Given the description of an element on the screen output the (x, y) to click on. 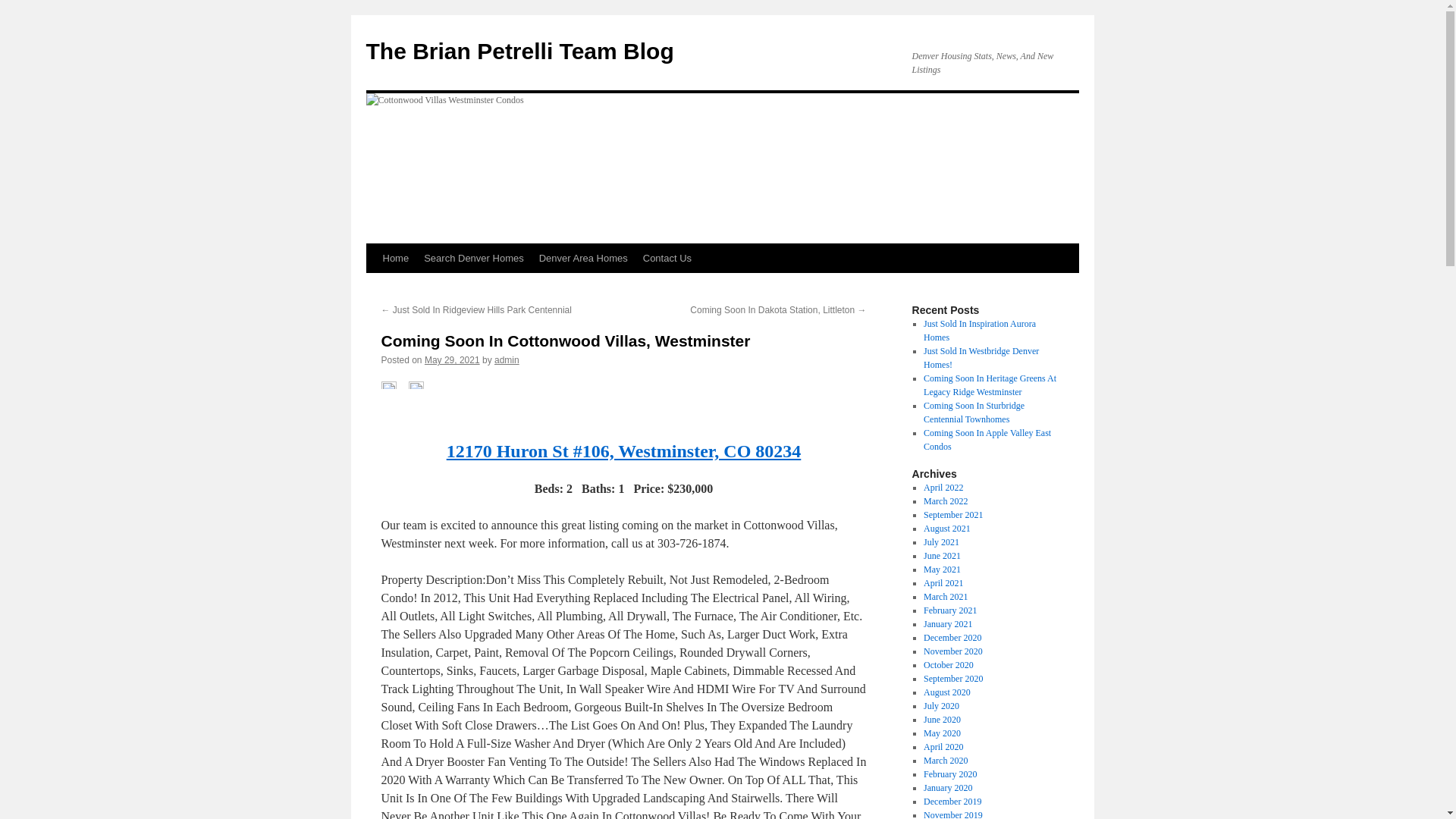
Coming Soon In Heritage Greens At Legacy Ridge Westminster (990, 385)
admin (507, 359)
4:27 pm (452, 359)
Just Sold In Westbridge Denver Homes! (981, 357)
February 2021 (949, 610)
The Brian Petrelli Team Blog (518, 50)
November 2020 (952, 651)
September 2021 (952, 514)
View all posts by admin (507, 359)
The Brian Petrelli Team Blog (518, 50)
